Given the description of an element on the screen output the (x, y) to click on. 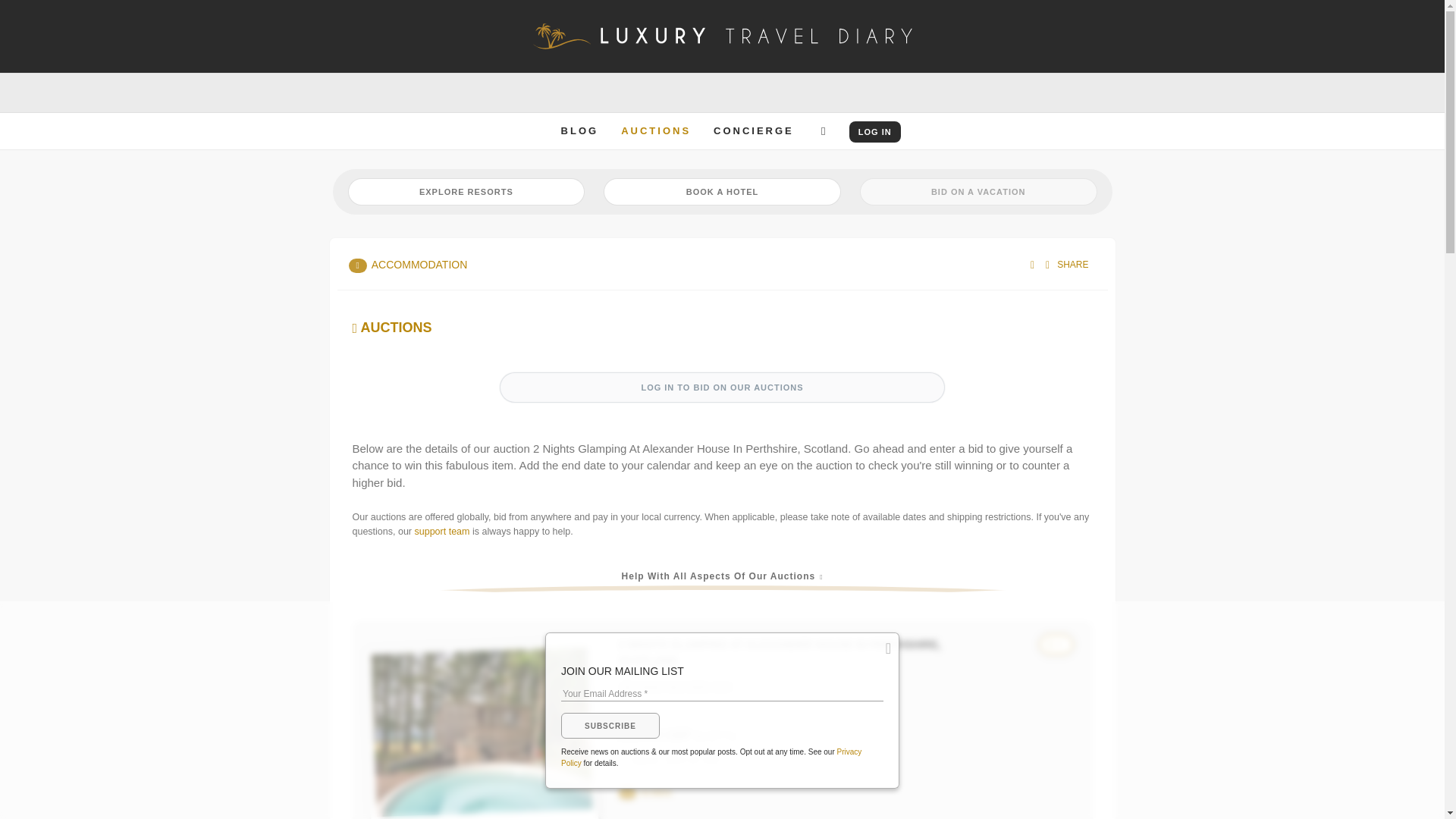
Subscribe (609, 725)
BLOG (580, 131)
CONCIERGE (753, 131)
LOG IN (874, 131)
Find Out How To Bid On Auction Items (717, 75)
AUCTIONS (655, 131)
